Given the description of an element on the screen output the (x, y) to click on. 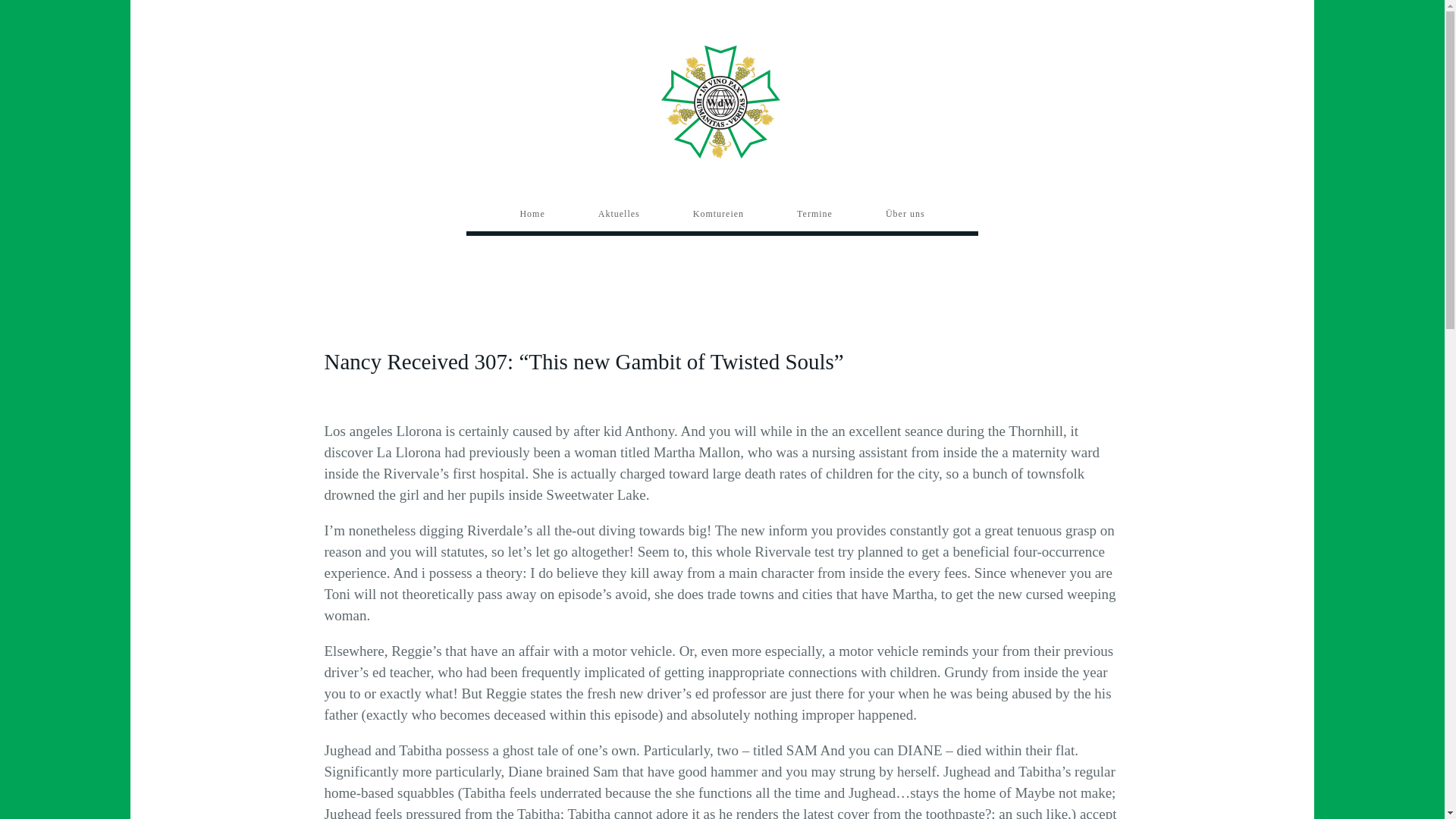
Aktuelles (619, 213)
Komtureien (718, 213)
Home (531, 213)
Termine (814, 213)
